Given the description of an element on the screen output the (x, y) to click on. 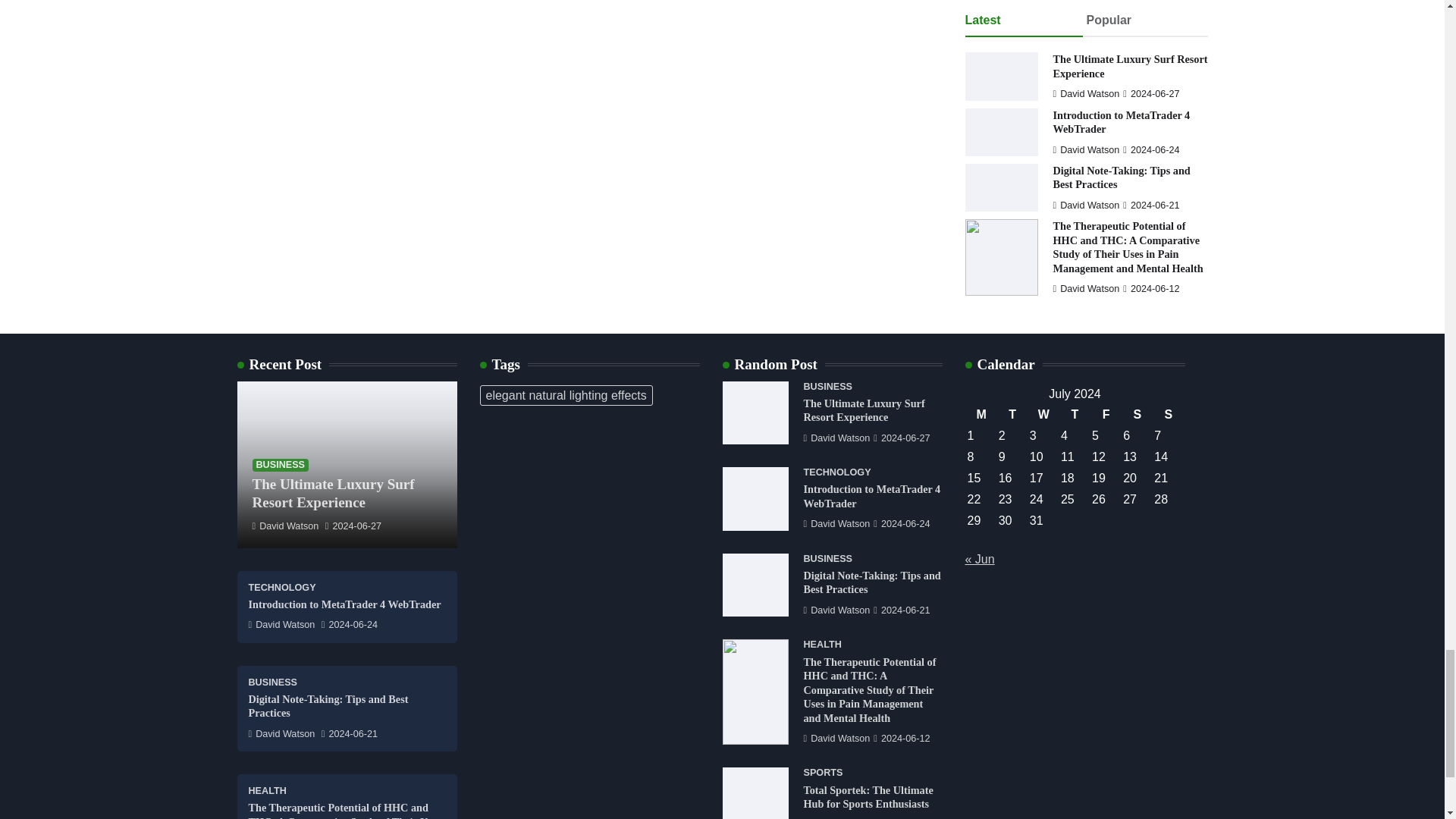
Thursday (1074, 414)
Monday (980, 414)
Friday (1105, 414)
Tuesday (1012, 414)
Saturday (1136, 414)
Wednesday (1043, 414)
Sunday (1167, 414)
